Given the description of an element on the screen output the (x, y) to click on. 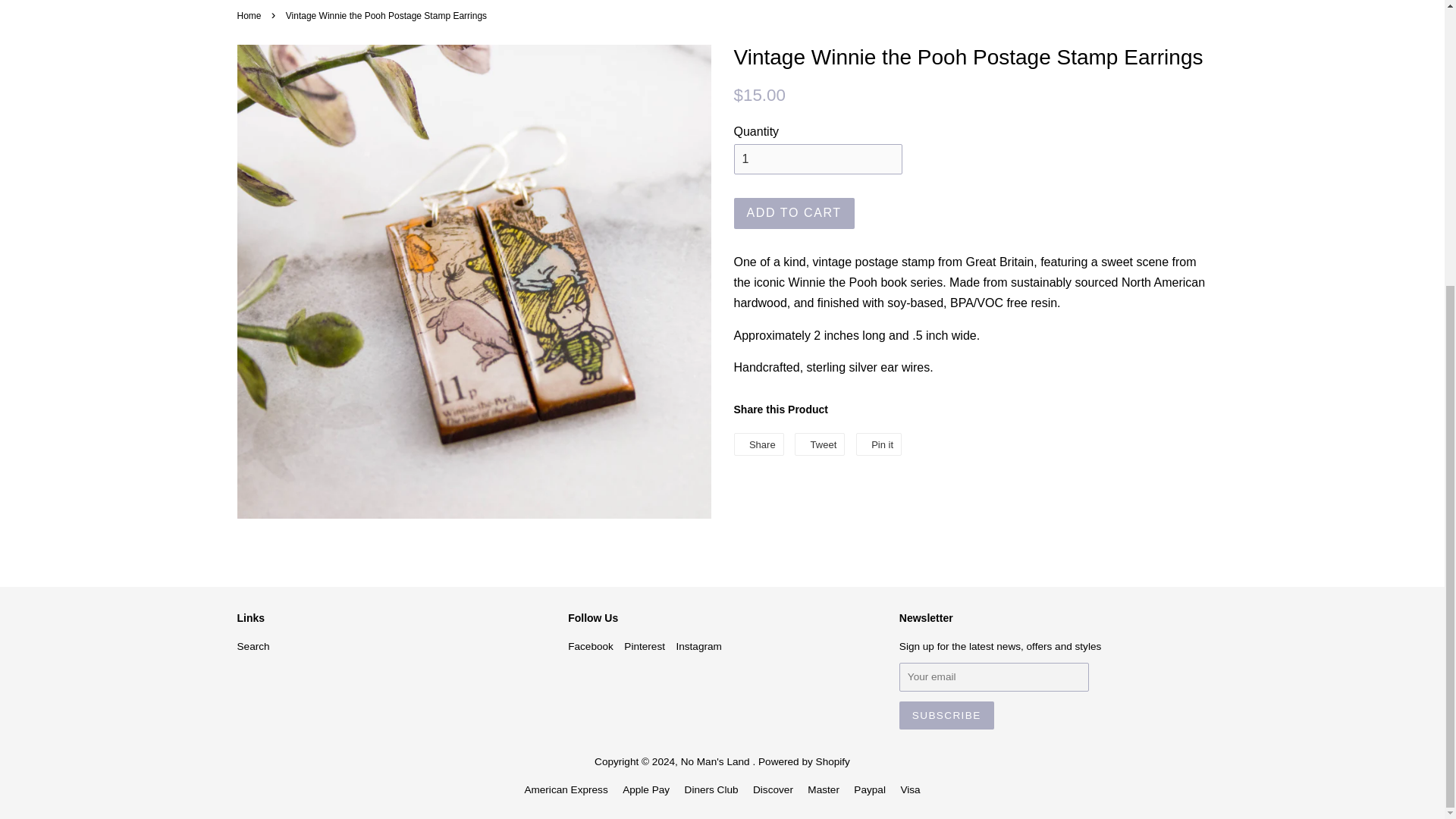
No Man's Land  on Pinterest (644, 645)
Tweet on Twitter (819, 444)
Instagram (819, 444)
Search (697, 645)
Subscribe (252, 645)
No Man's Land  on Facebook (946, 715)
Pin on Pinterest (589, 645)
Pinterest (878, 444)
Facebook (644, 645)
ADD TO CART (589, 645)
Home (793, 213)
No Man's Land  on Instagram (249, 15)
